Given the description of an element on the screen output the (x, y) to click on. 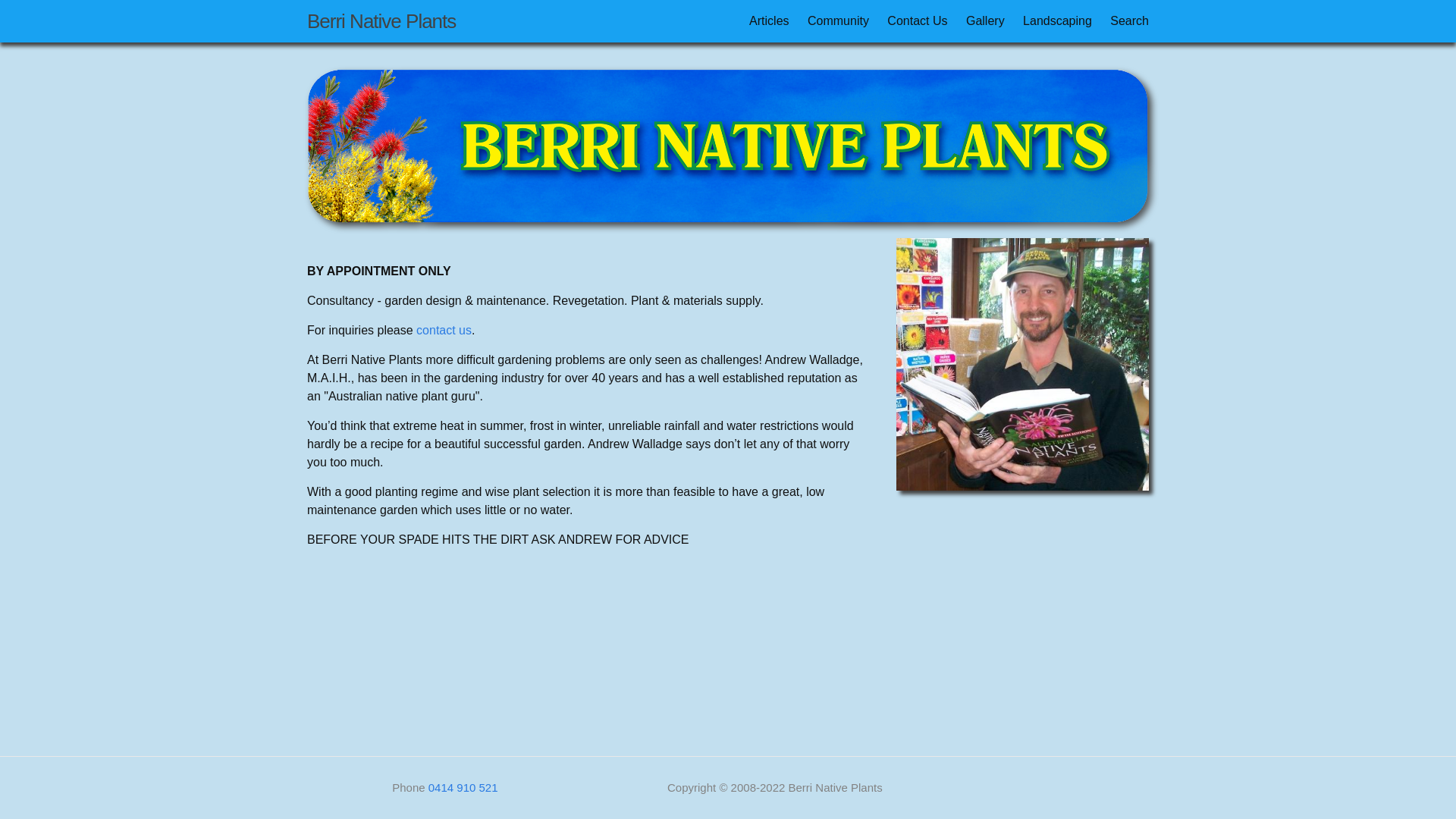
Landscaping Element type: text (1057, 20)
Gallery Element type: text (985, 20)
Community Element type: text (838, 20)
contact us Element type: text (443, 329)
Berri Native Plants Element type: text (381, 21)
Articles Element type: text (768, 20)
Search Element type: text (1129, 20)
0414 910 521 Element type: text (463, 787)
Contact Us Element type: text (917, 20)
